Given the description of an element on the screen output the (x, y) to click on. 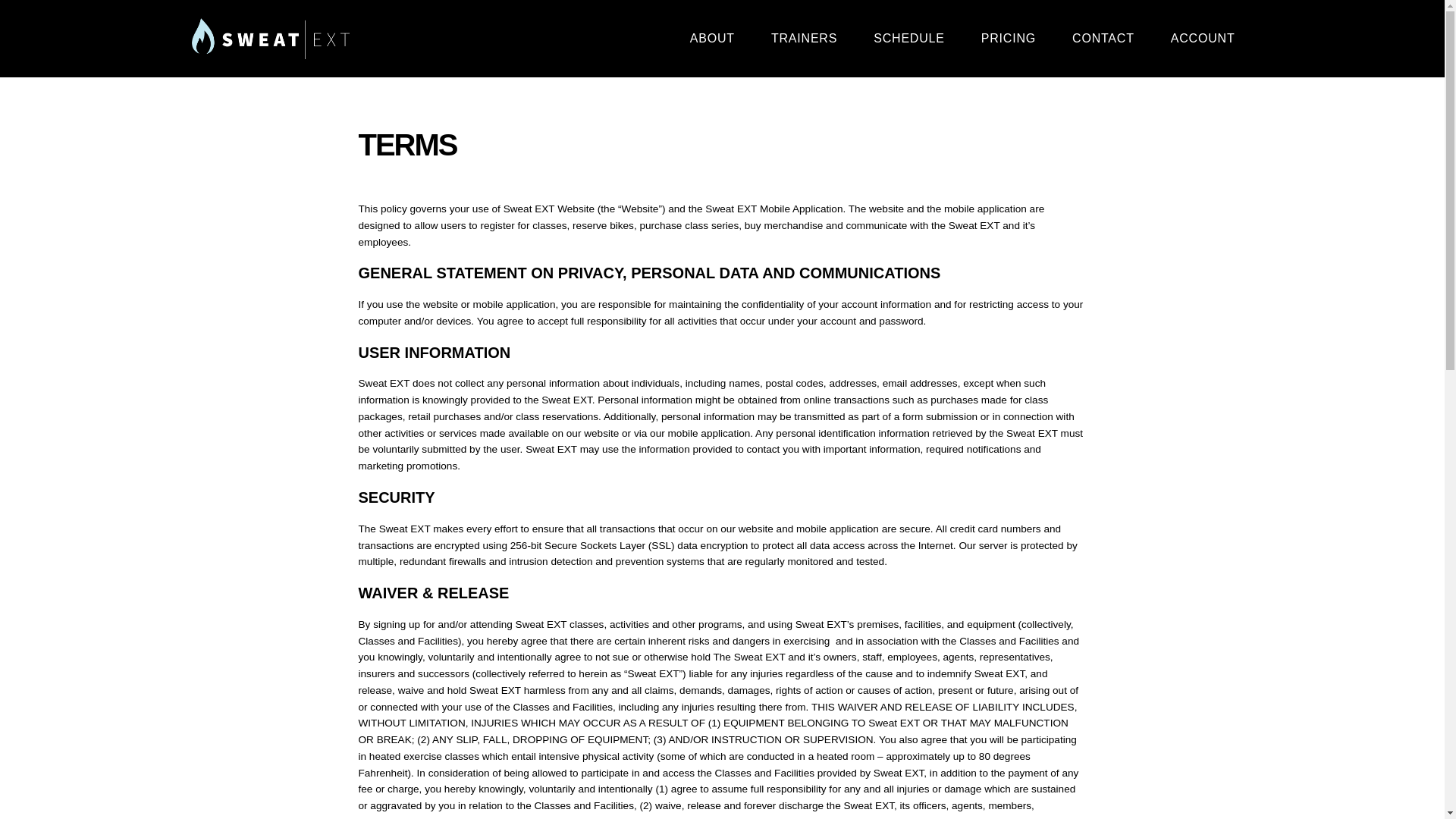
TRAINERS (804, 38)
ABOUT (711, 38)
CONTACT (1103, 38)
SCHEDULE (909, 38)
PRICING (1008, 38)
ACCOUNT (1203, 38)
